Given the description of an element on the screen output the (x, y) to click on. 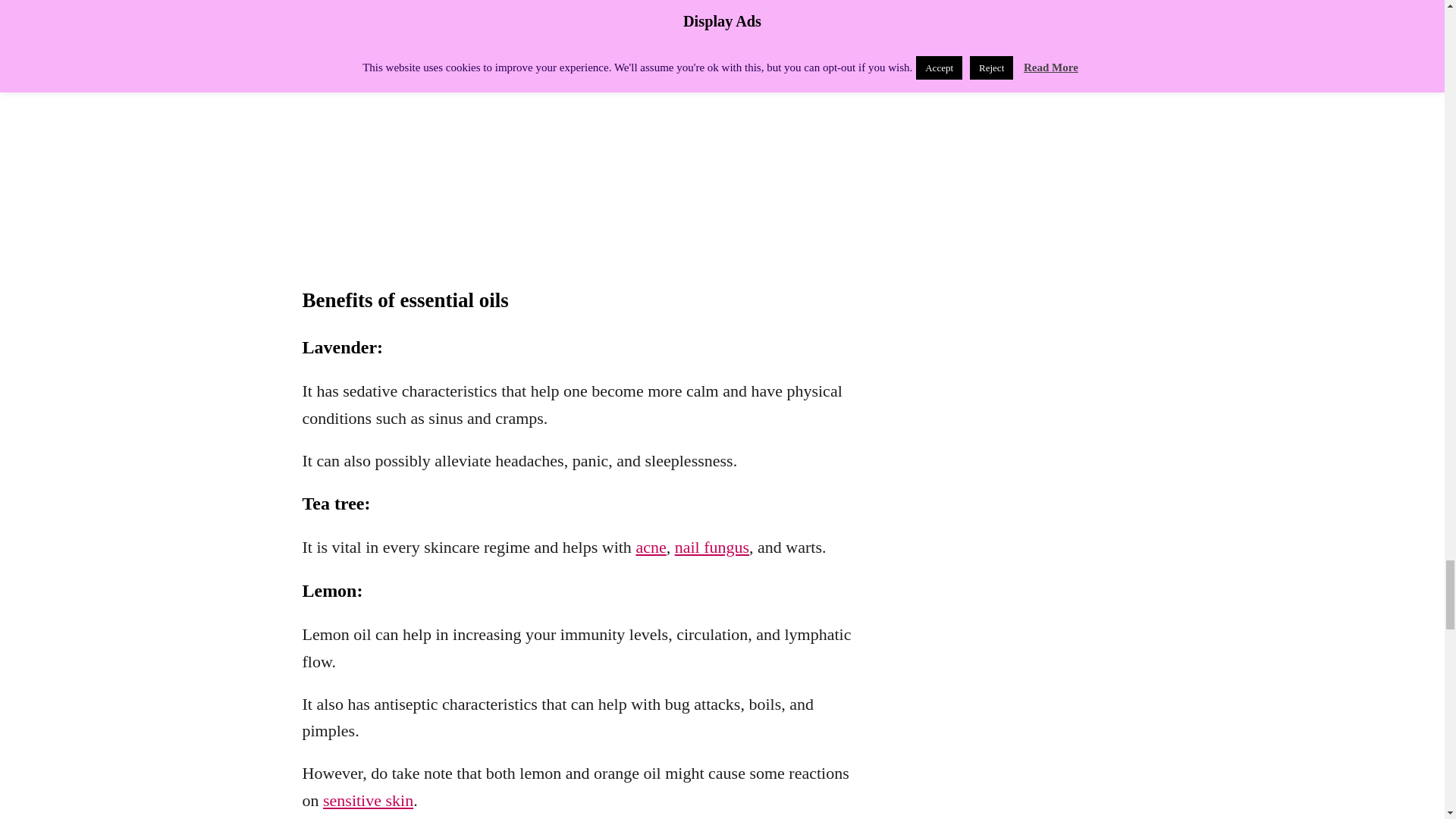
acne (649, 546)
nail fungus (712, 546)
sensitive skin (368, 800)
